Given the description of an element on the screen output the (x, y) to click on. 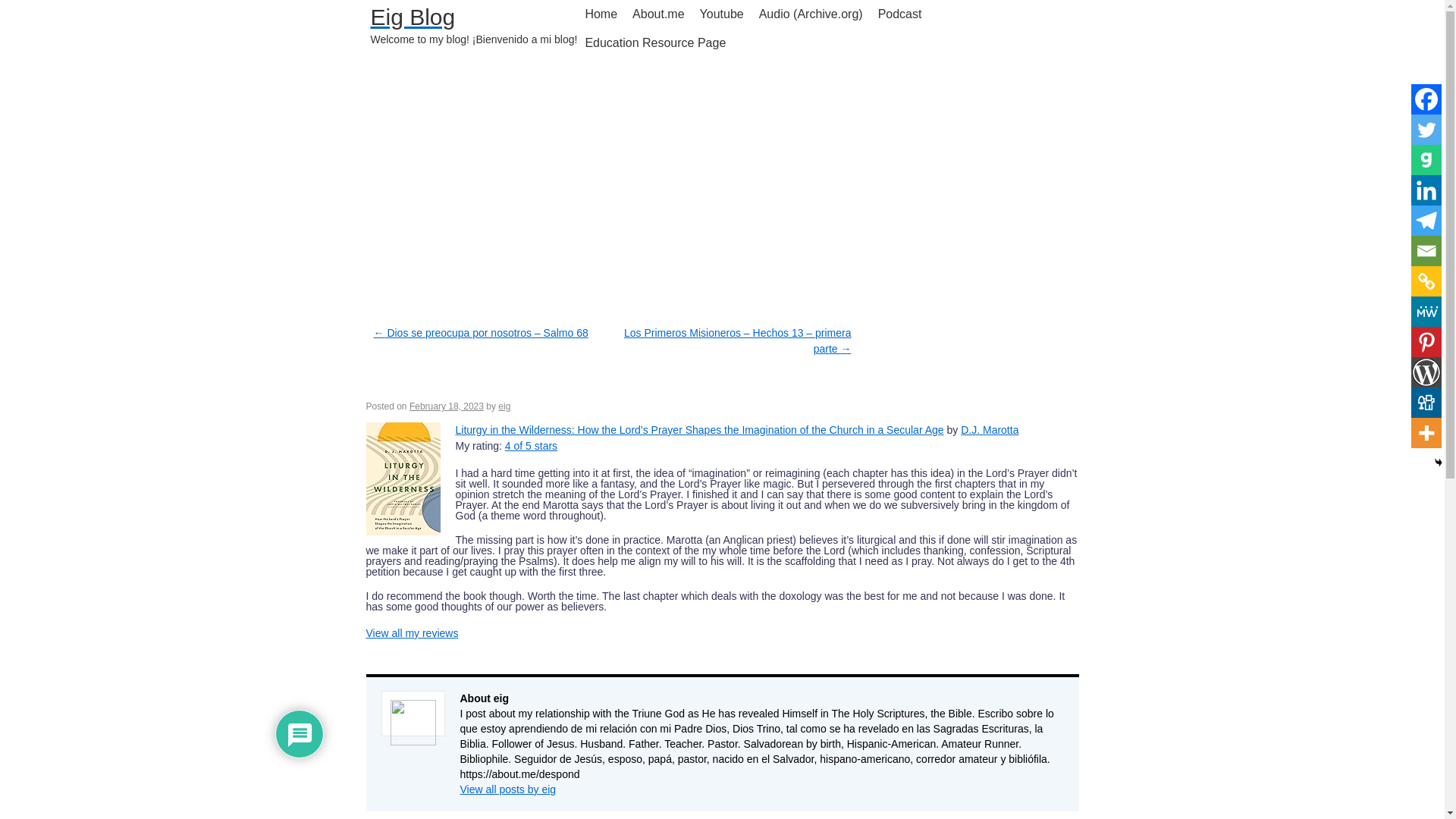
Linkedin (1425, 190)
Telegram (1425, 220)
Copy Link (1425, 281)
Facebook (1425, 99)
Gab (1425, 159)
D.J. Marotta (988, 429)
7:07 pm (446, 406)
WordPress (1425, 372)
Podcast (900, 14)
View all my reviews (411, 633)
